Given the description of an element on the screen output the (x, y) to click on. 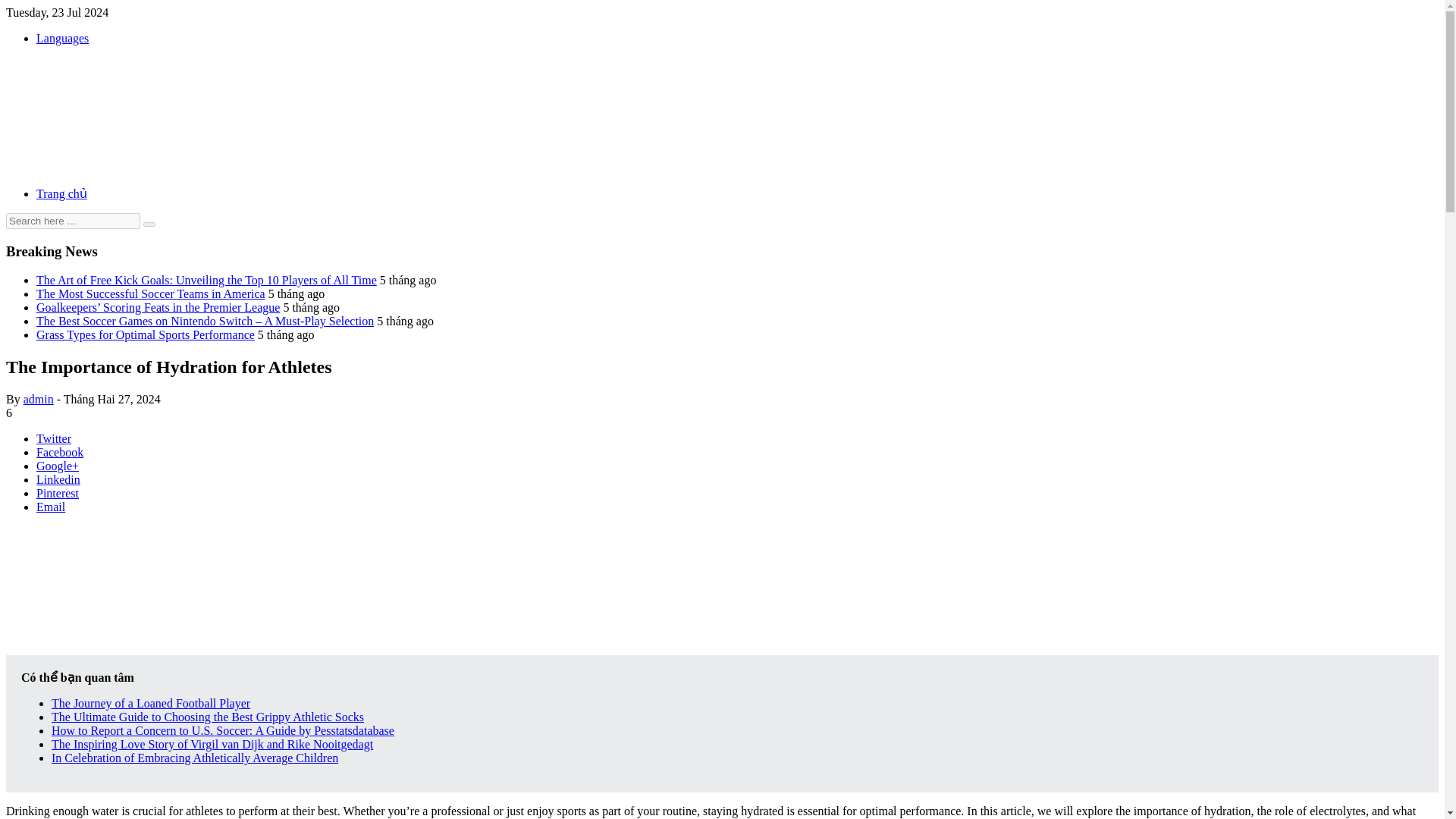
Email (50, 506)
Facebook (59, 451)
Grass Types for Optimal Sports Performance (145, 334)
Twitter (53, 438)
The Journey of a Loaned Football Player (150, 703)
The Most Successful Soccer Teams in America (150, 293)
Pinterest (57, 492)
Linkedin (58, 479)
The Journey of a Loaned Football Player (150, 703)
